Given the description of an element on the screen output the (x, y) to click on. 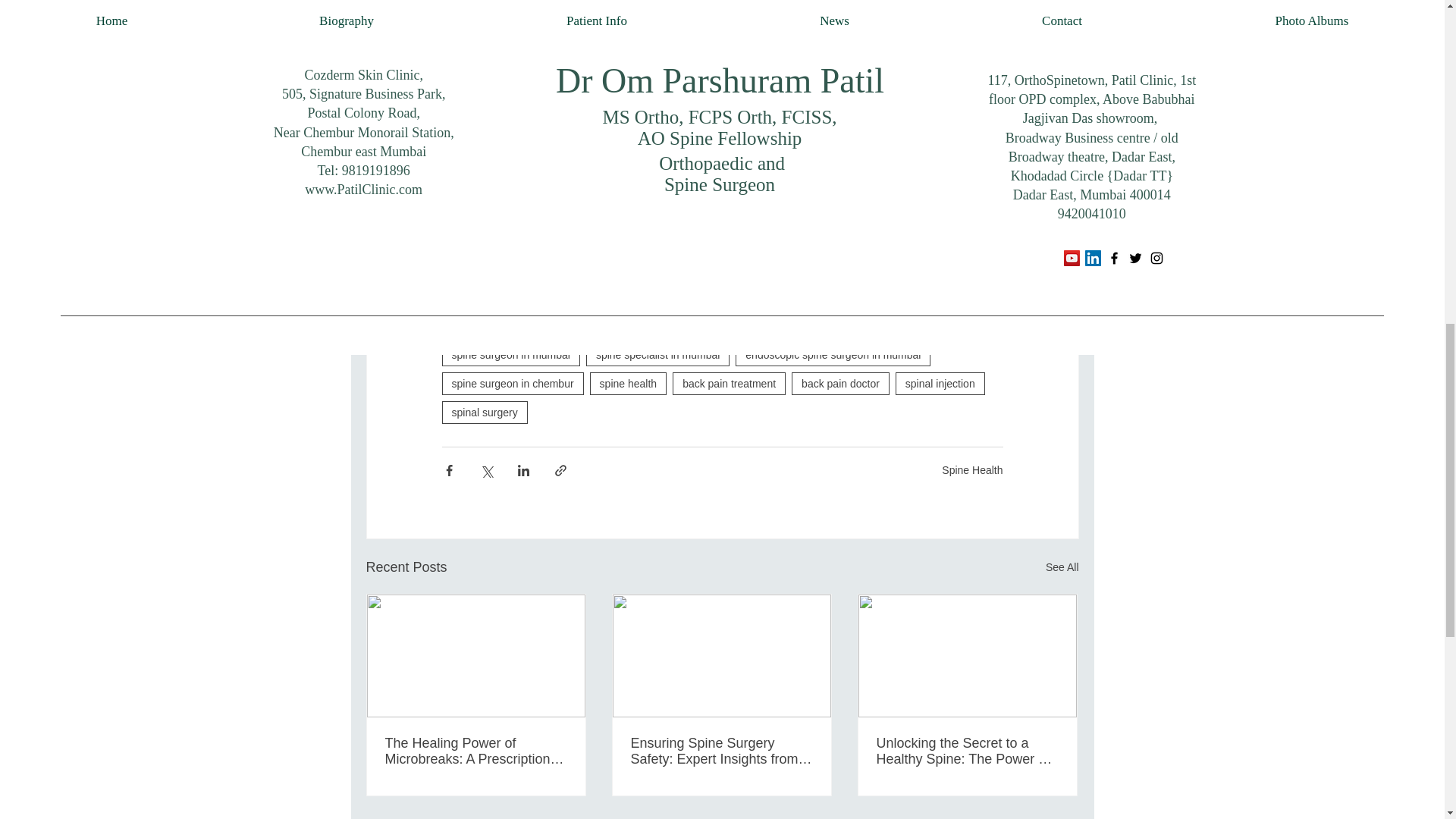
See All (1061, 567)
spine surgeon in mumbai (510, 354)
back pain treatment (729, 383)
spinal surgery (484, 412)
back pain doctor (840, 383)
spine specialist in mumbai (657, 354)
spine surgeon in chembur (512, 383)
spine health (627, 383)
